Given the description of an element on the screen output the (x, y) to click on. 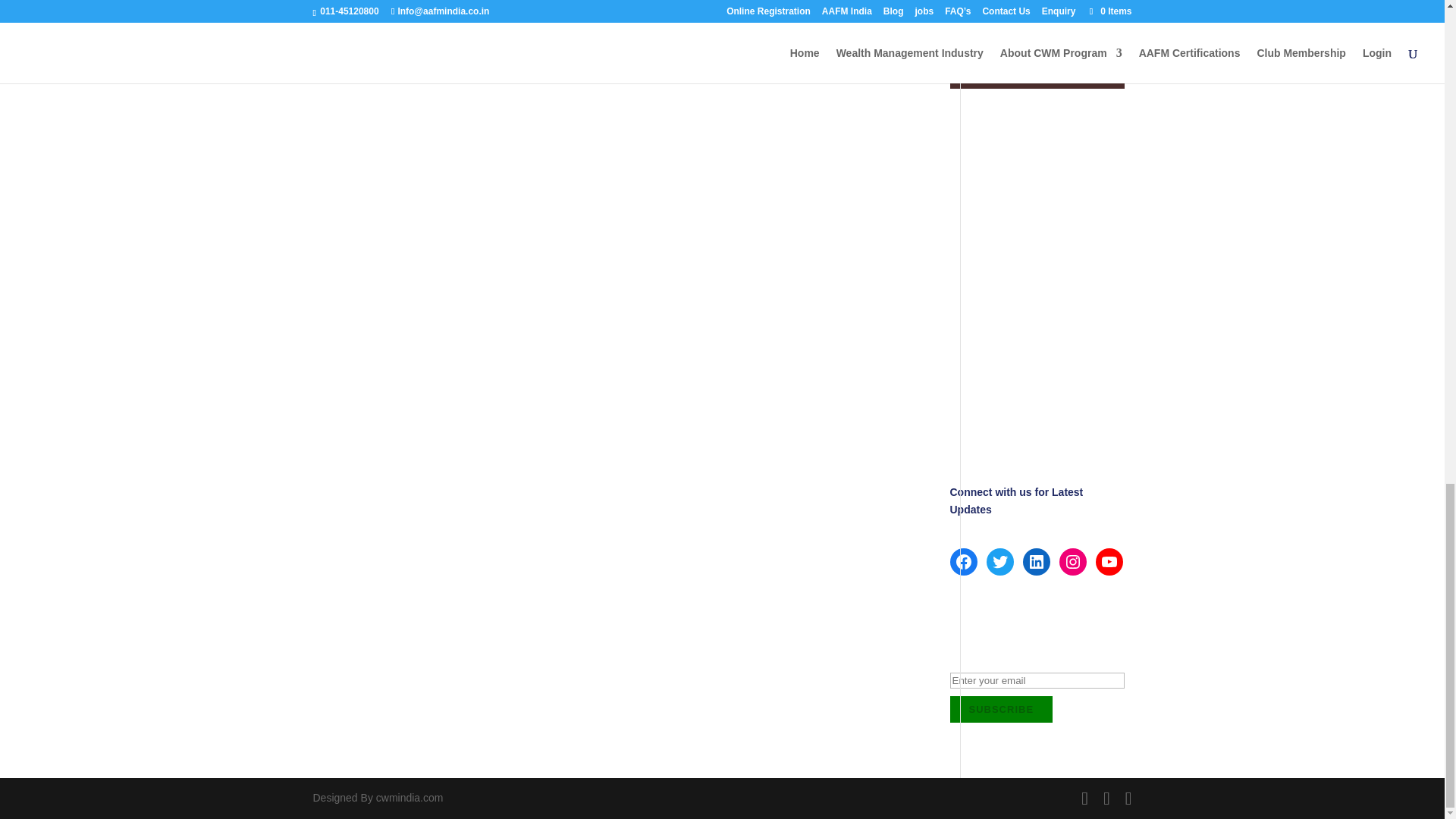
Subscribe (1000, 709)
Send me More Info (1032, 32)
